Given the description of an element on the screen output the (x, y) to click on. 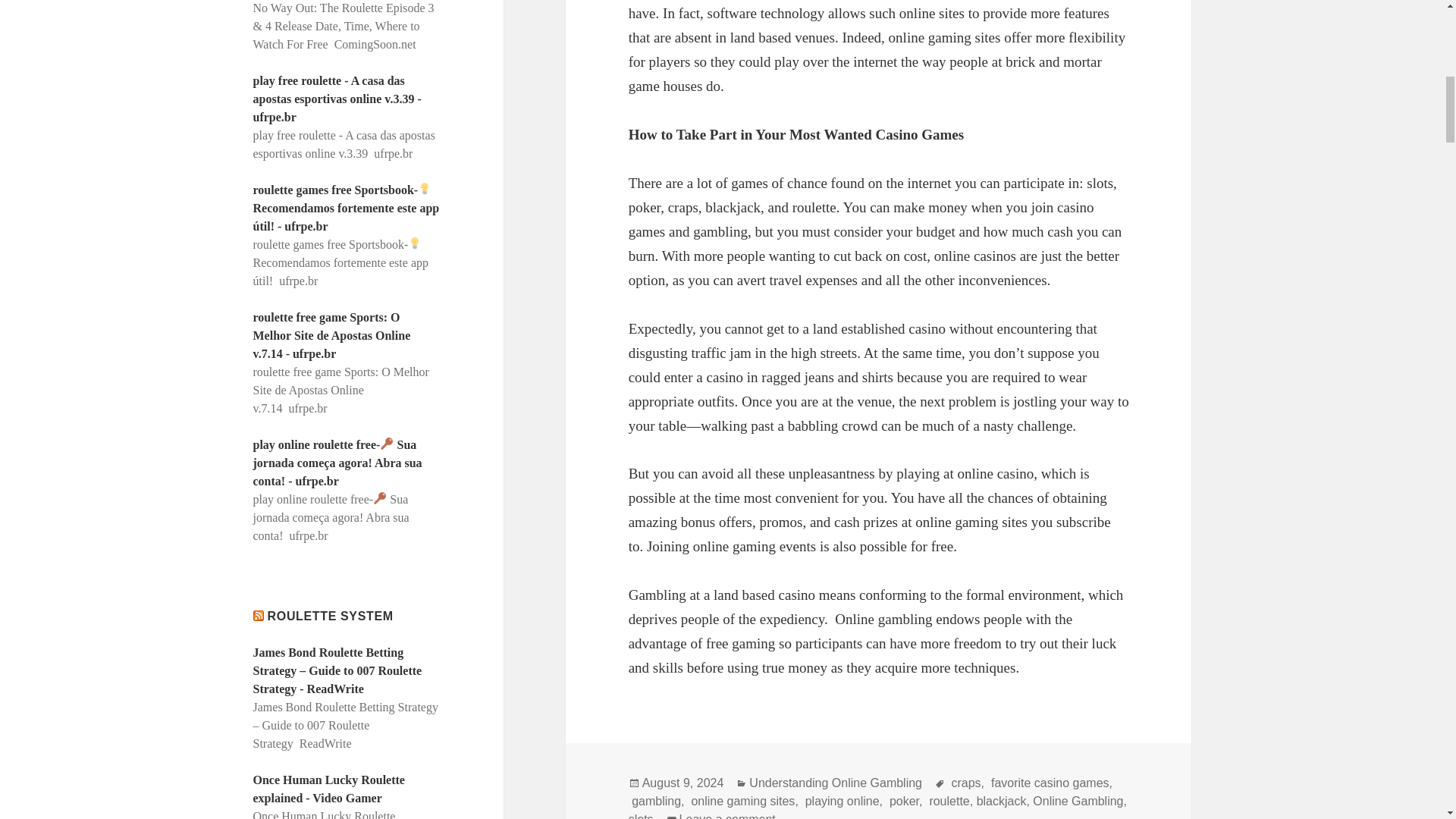
 playing online (840, 801)
blackjack (1001, 801)
August 9, 2024 (682, 783)
Understanding Online Gambling (835, 783)
Online Gambling (1077, 801)
Once Human Lucky Roulette explained - Video Gamer (328, 788)
slots (640, 816)
 favorite casino games (1047, 783)
